Given the description of an element on the screen output the (x, y) to click on. 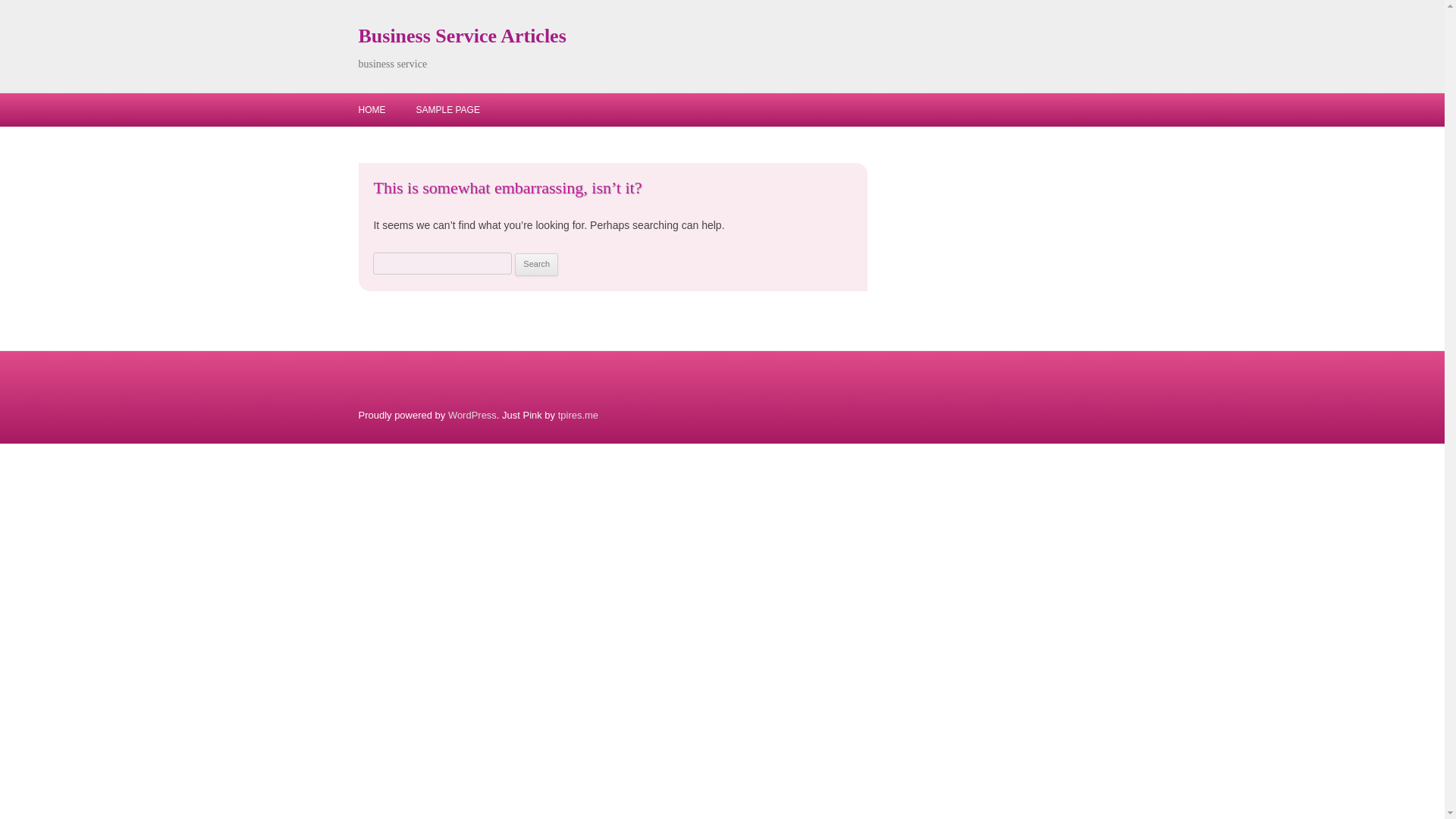
Search (536, 264)
SAMPLE PAGE (446, 109)
Search (536, 264)
Business Service Articles (462, 36)
Semantic Personal Publishing Platform (472, 414)
WordPress (472, 414)
tpires.me (577, 414)
Business Service Articles (462, 36)
